Given the description of an element on the screen output the (x, y) to click on. 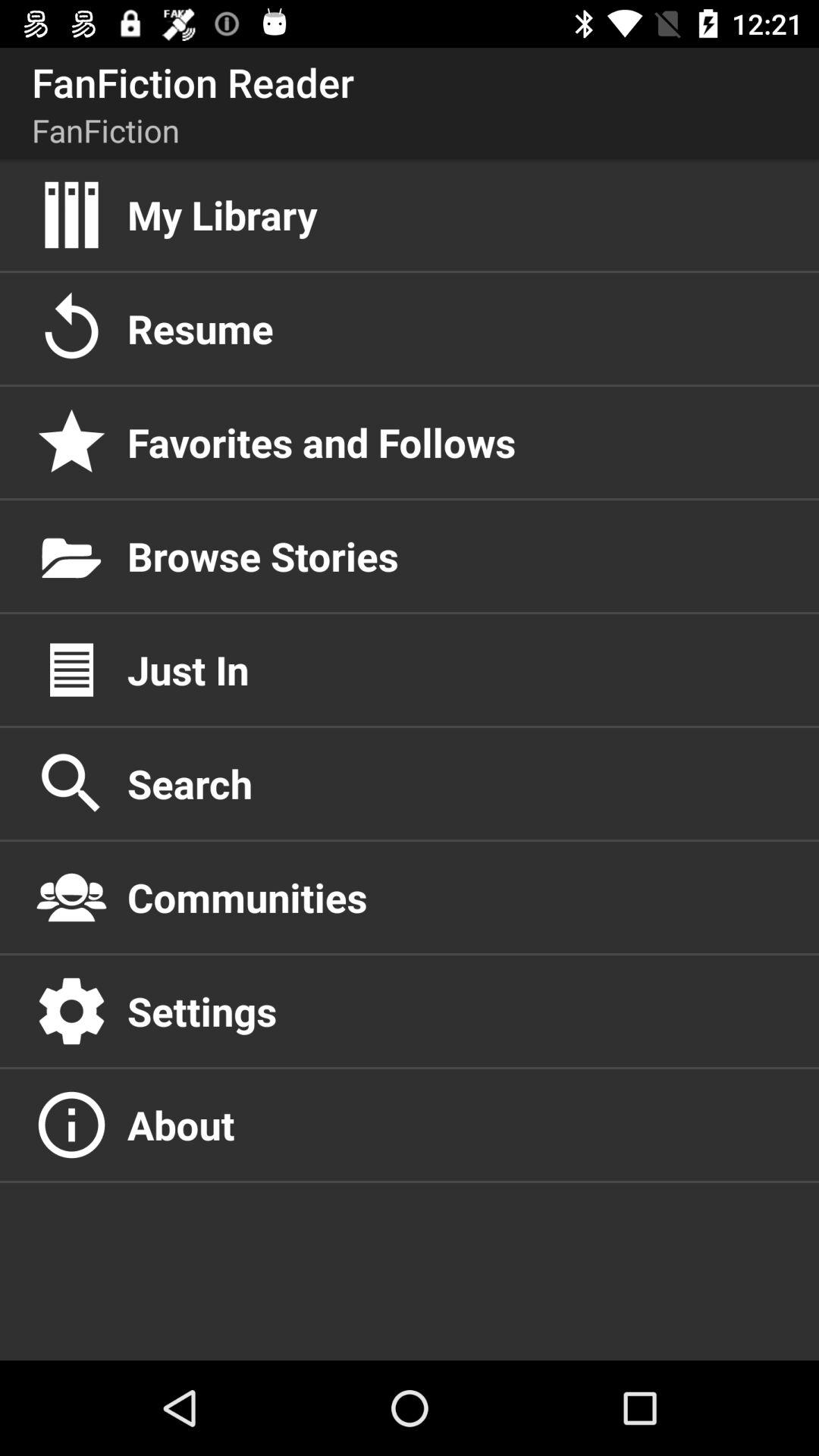
swipe to search (457, 783)
